Given the description of an element on the screen output the (x, y) to click on. 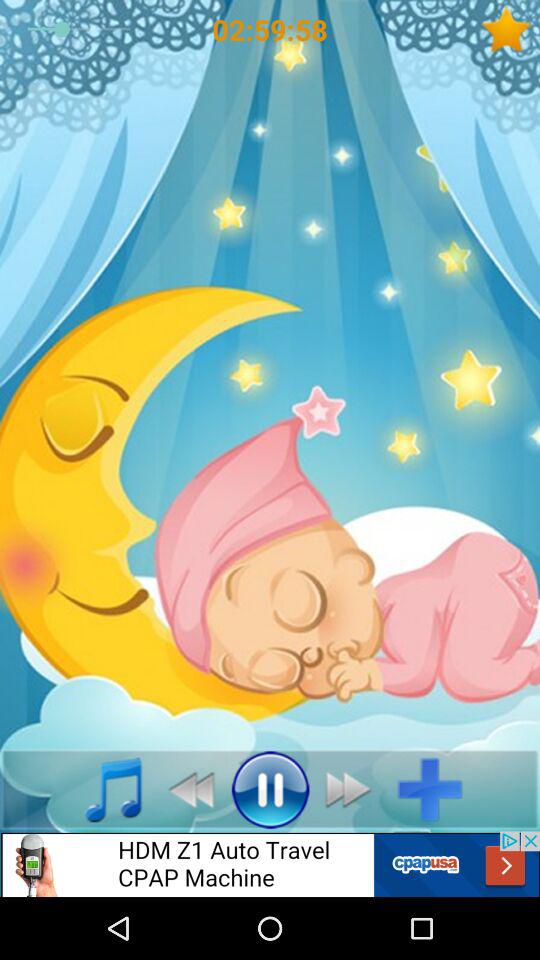
go back (186, 789)
